Given the description of an element on the screen output the (x, y) to click on. 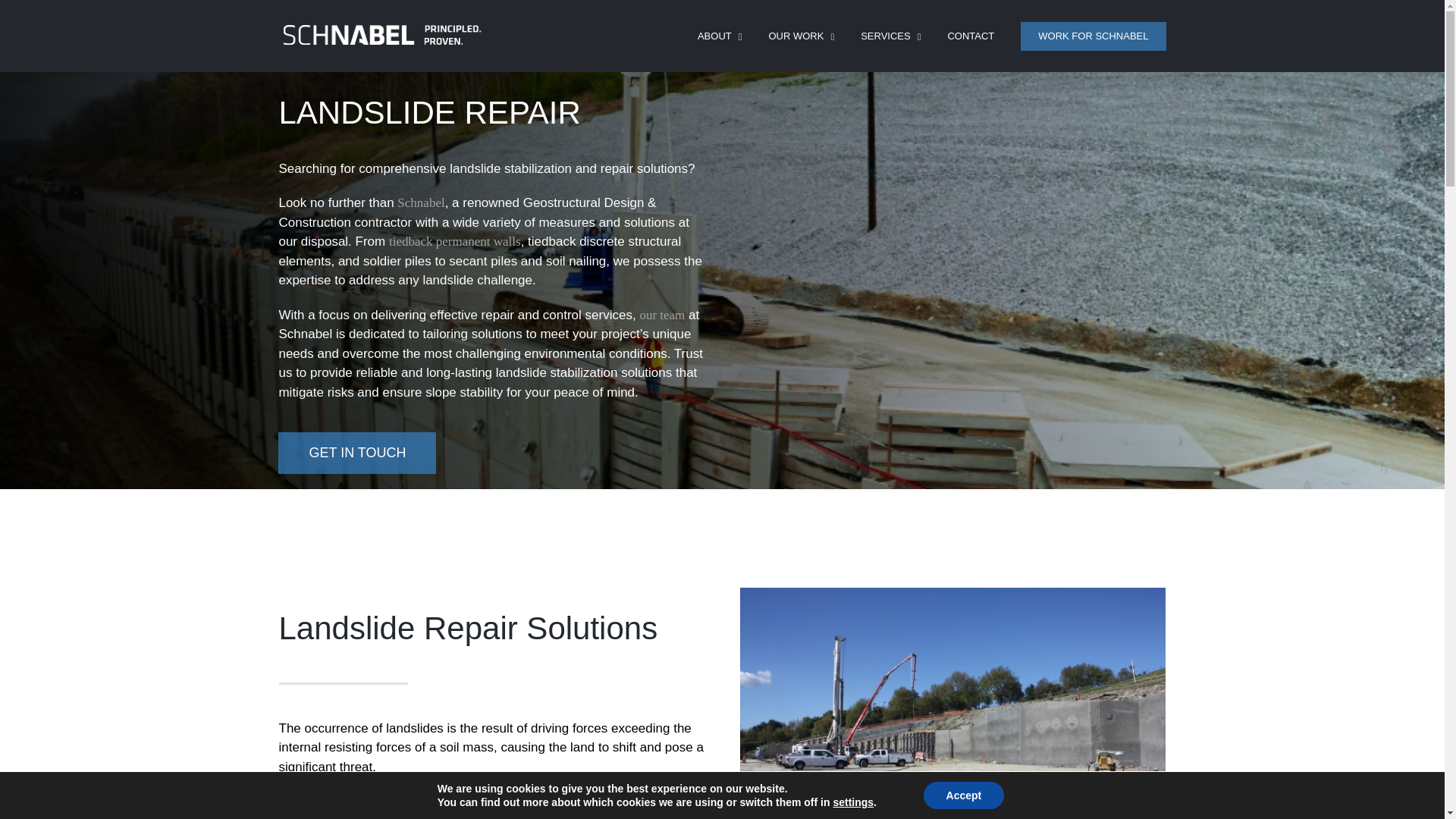
WORK FOR SCHNABEL (1093, 35)
OUR WORK (801, 35)
